Given the description of an element on the screen output the (x, y) to click on. 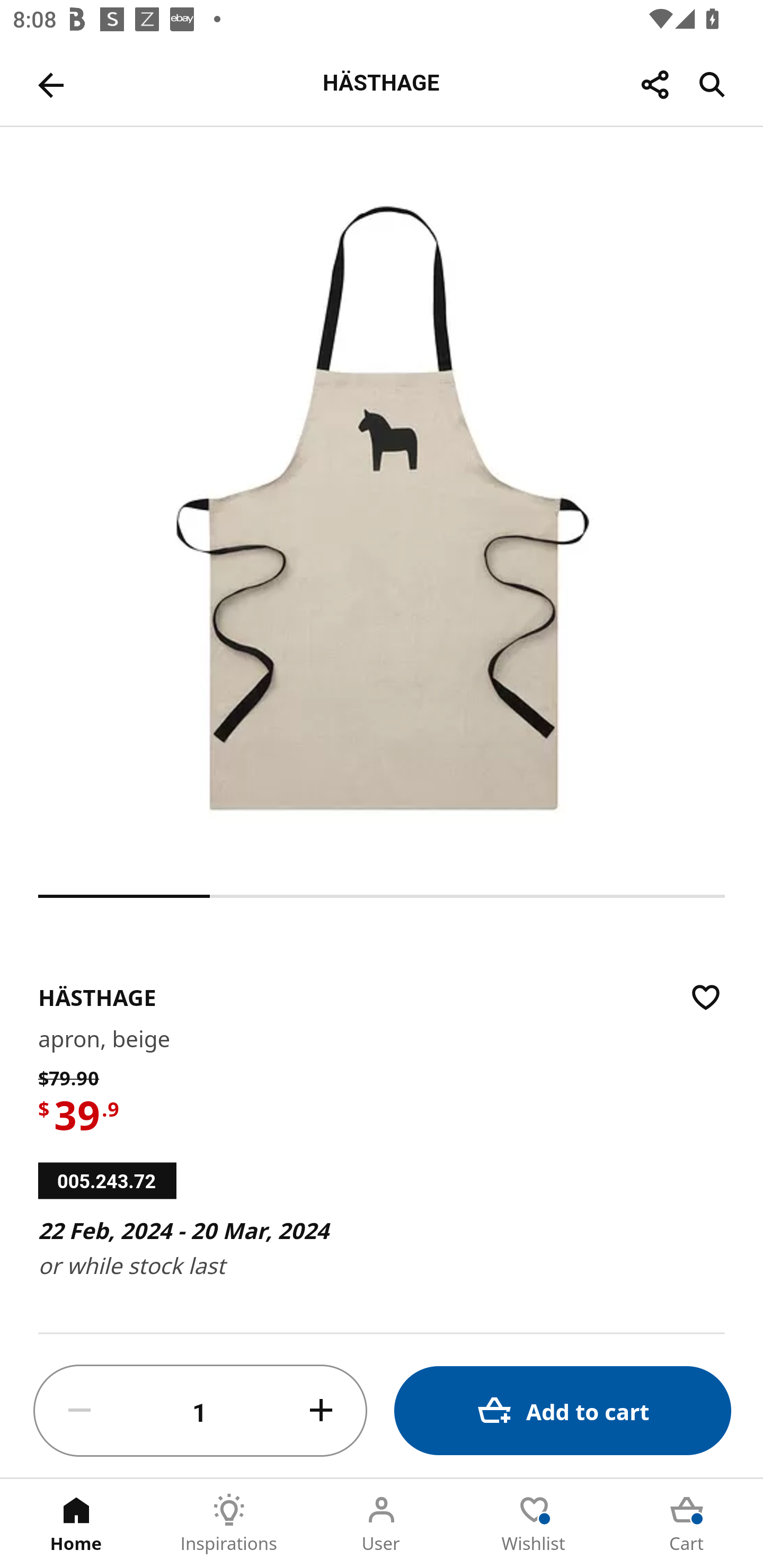
Add to cart (562, 1410)
1 (200, 1411)
Home
Tab 1 of 5 (76, 1522)
Inspirations
Tab 2 of 5 (228, 1522)
User
Tab 3 of 5 (381, 1522)
Wishlist
Tab 4 of 5 (533, 1522)
Cart
Tab 5 of 5 (686, 1522)
